Given the description of an element on the screen output the (x, y) to click on. 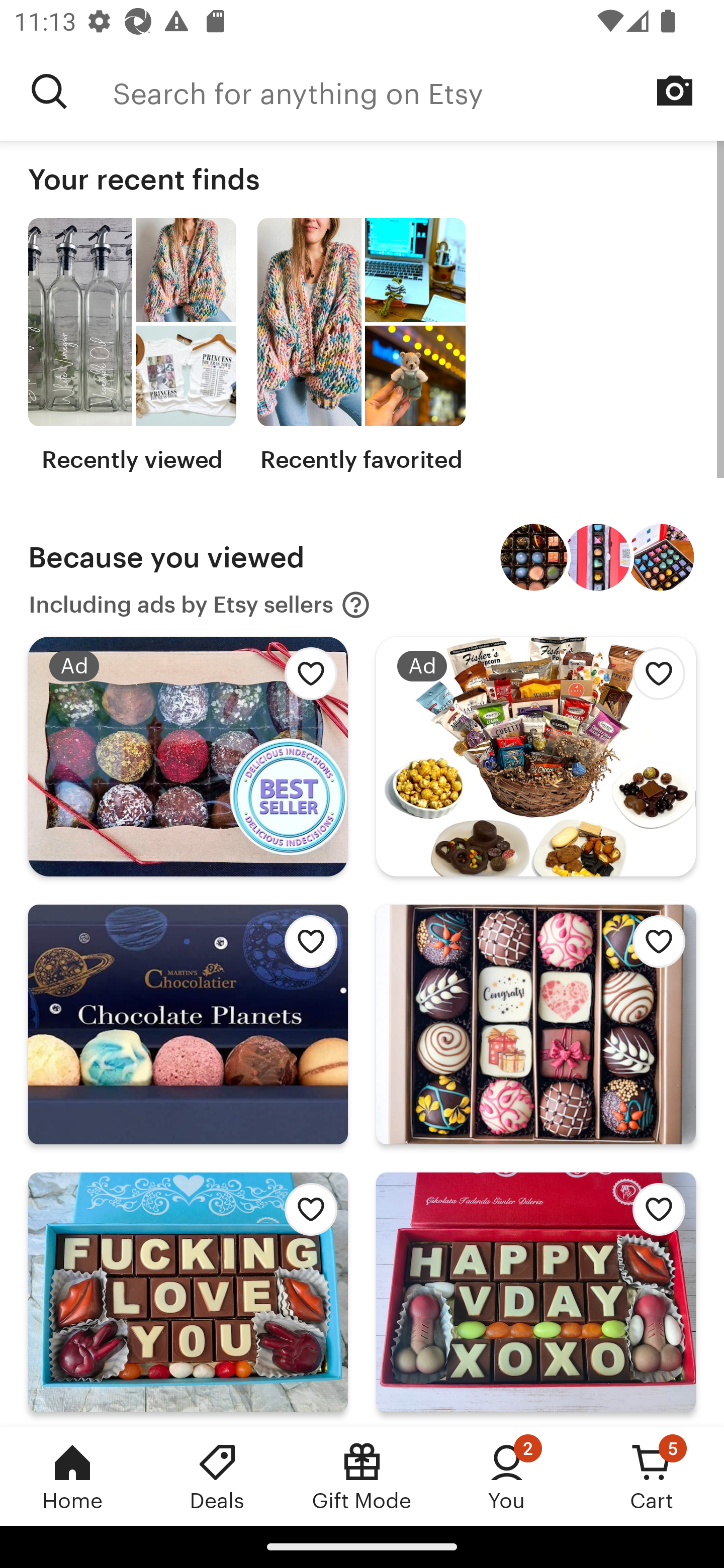
Search for anything on Etsy (49, 91)
Search by image (674, 90)
Search for anything on Etsy (418, 91)
Recently viewed (132, 345)
Recently favorited (361, 345)
Including ads by Etsy sellers (199, 604)
Deals (216, 1475)
Gift Mode (361, 1475)
You, 2 new notifications You (506, 1475)
Cart, 5 new notifications Cart (651, 1475)
